Given the description of an element on the screen output the (x, y) to click on. 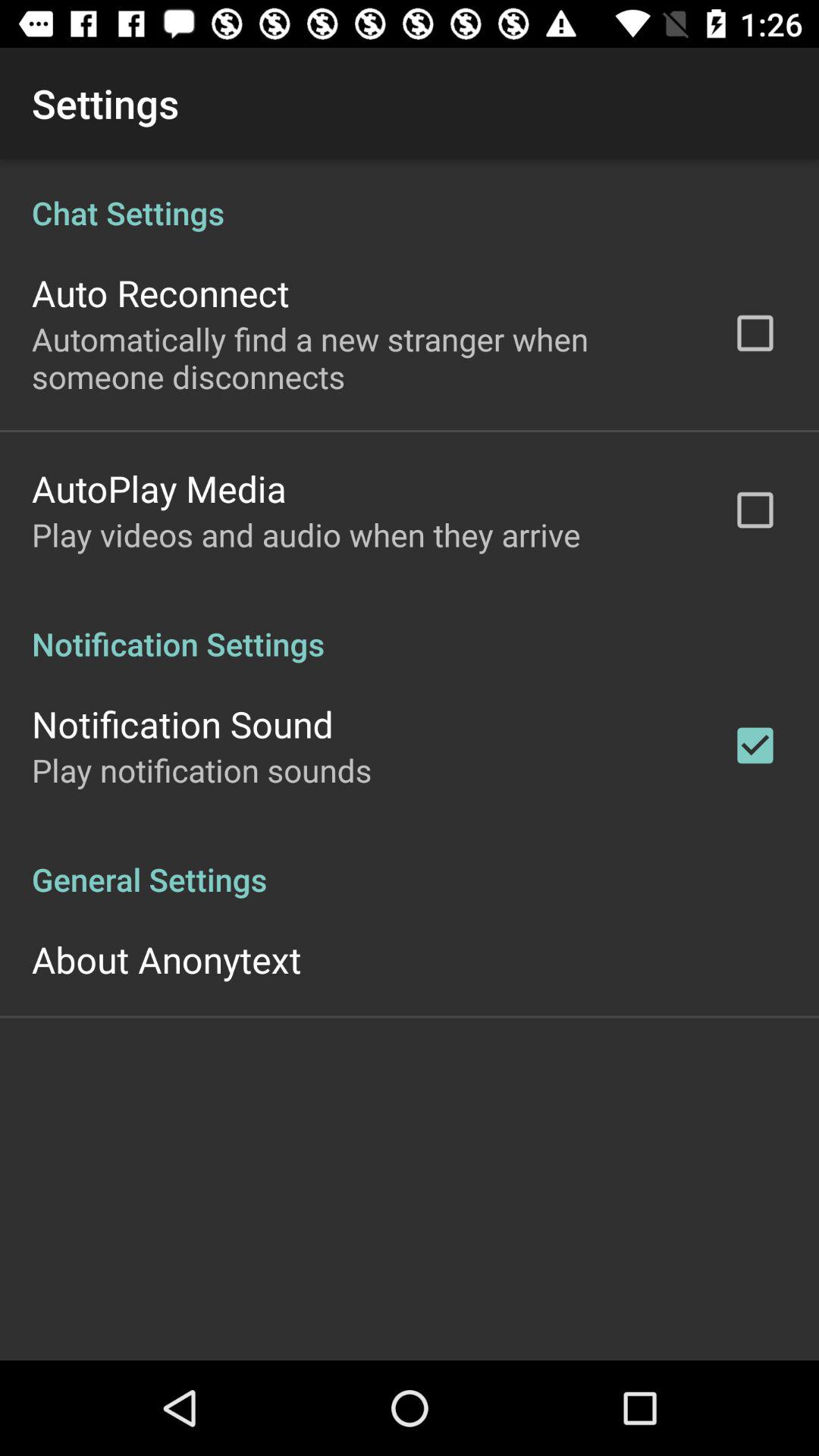
turn off the app above the automatically find a app (160, 292)
